Given the description of an element on the screen output the (x, y) to click on. 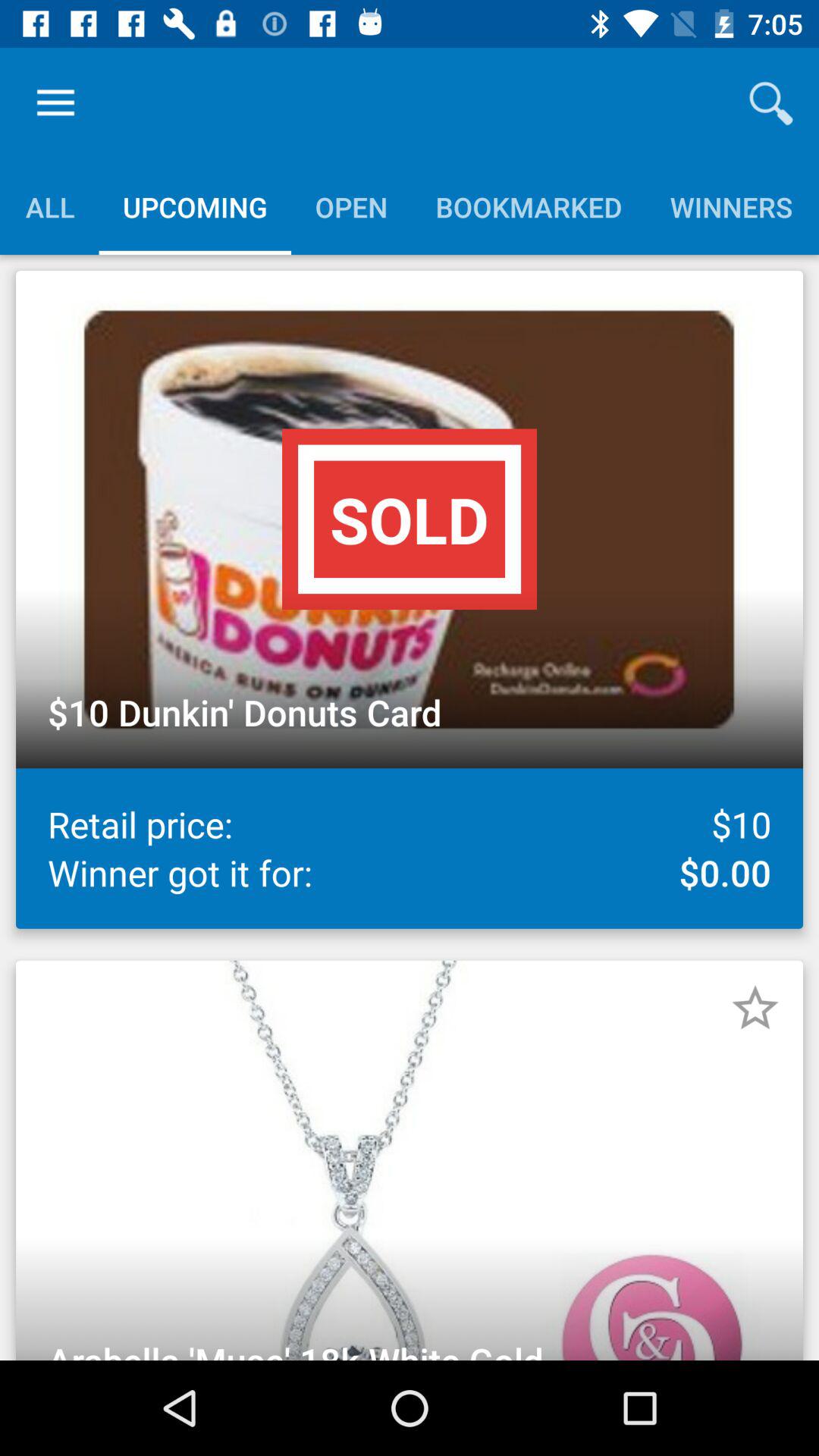
favorite this item (755, 1008)
